Given the description of an element on the screen output the (x, y) to click on. 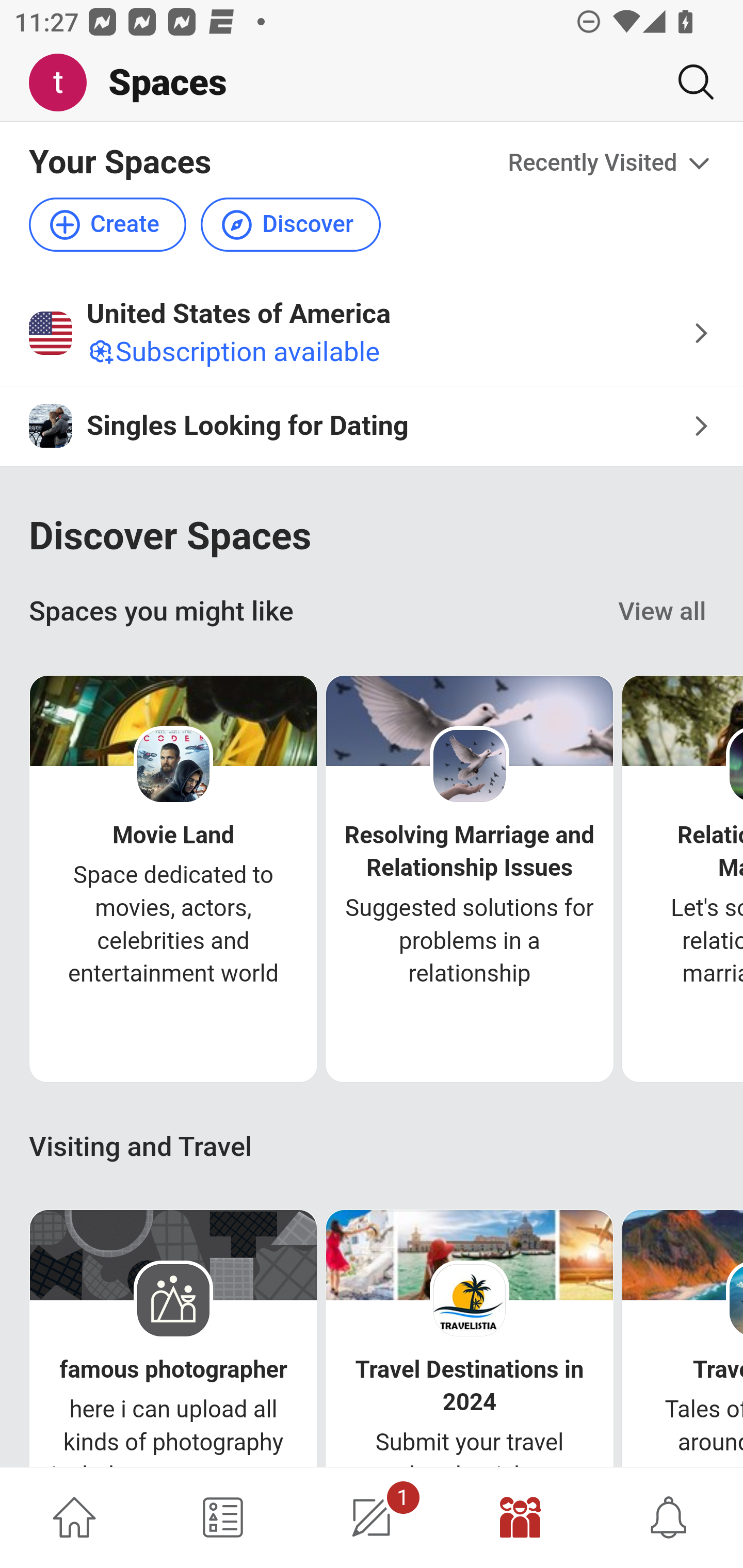
Me (64, 83)
Search (688, 82)
Recently Visited (610, 162)
Create (107, 224)
Discover (289, 224)
View all (662, 611)
Movie Land (173, 835)
Resolving Marriage and Relationship Issues (469, 851)
famous photographer (173, 1370)
Travel Destinations in 2024 (469, 1385)
1 (371, 1517)
